Given the description of an element on the screen output the (x, y) to click on. 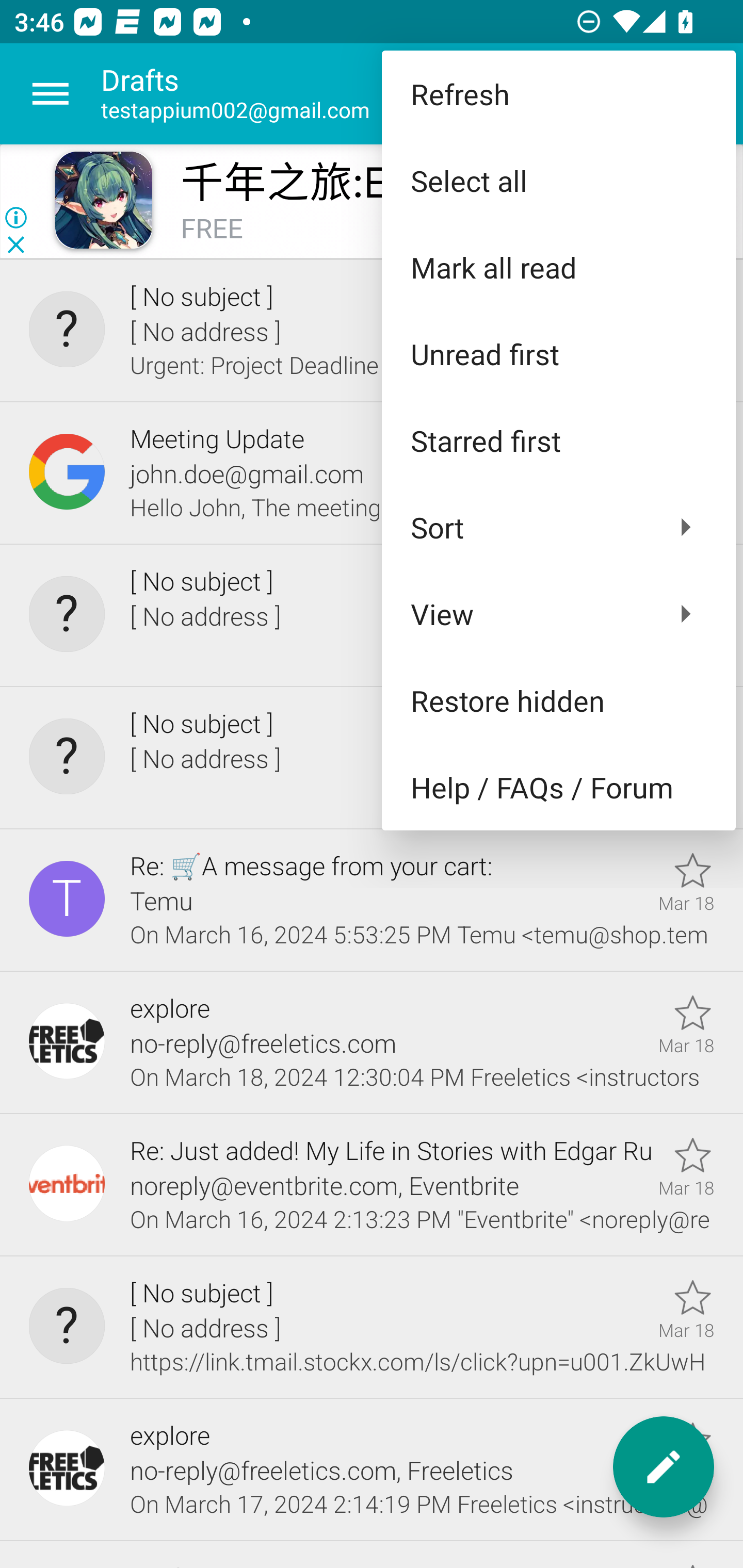
Refresh (558, 93)
Select all (558, 180)
Mark all read (558, 267)
Unread first (558, 353)
Starred first (558, 440)
Sort (558, 527)
View (558, 613)
Restore hidden (558, 699)
Help / FAQs / Forum (558, 787)
